Given the description of an element on the screen output the (x, y) to click on. 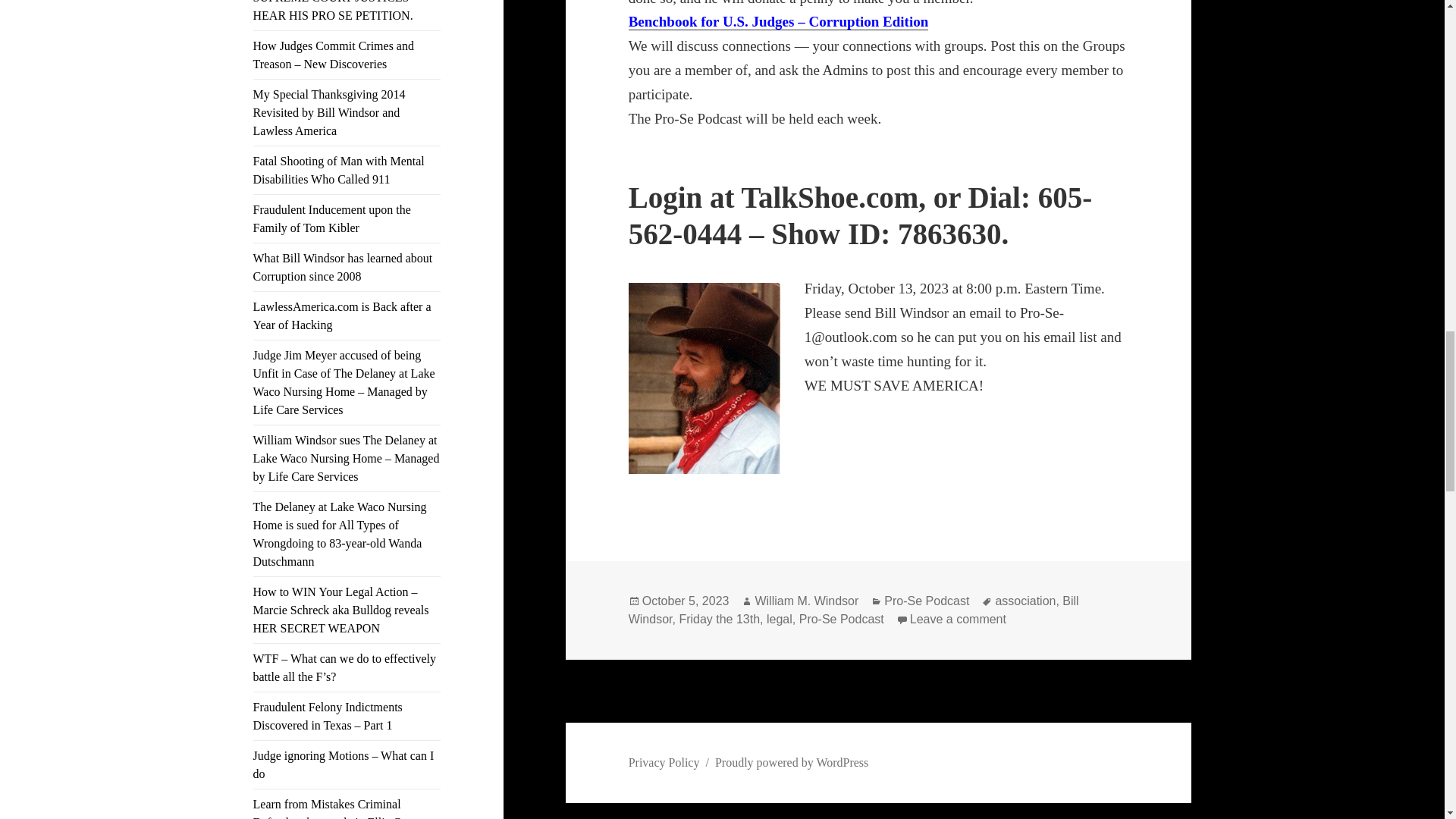
Fraudulent Inducement upon the Family of Tom Kibler (331, 218)
LawlessAmerica.com is Back after a Year of Hacking (341, 315)
What Bill Windsor has learned about Corruption since 2008 (342, 266)
